Given the description of an element on the screen output the (x, y) to click on. 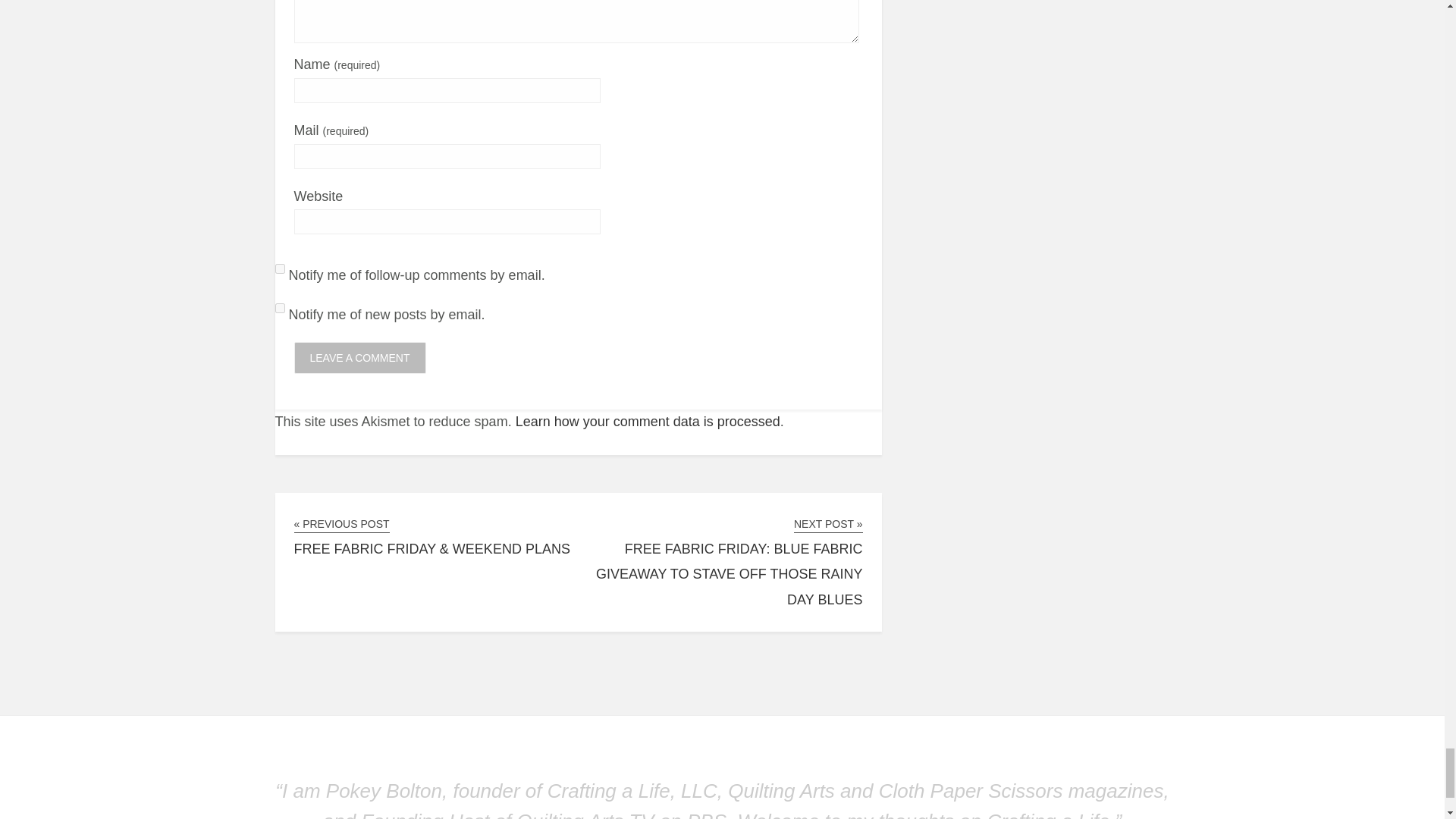
subscribe (279, 307)
Leave a Comment (360, 357)
subscribe (279, 268)
